Given the description of an element on the screen output the (x, y) to click on. 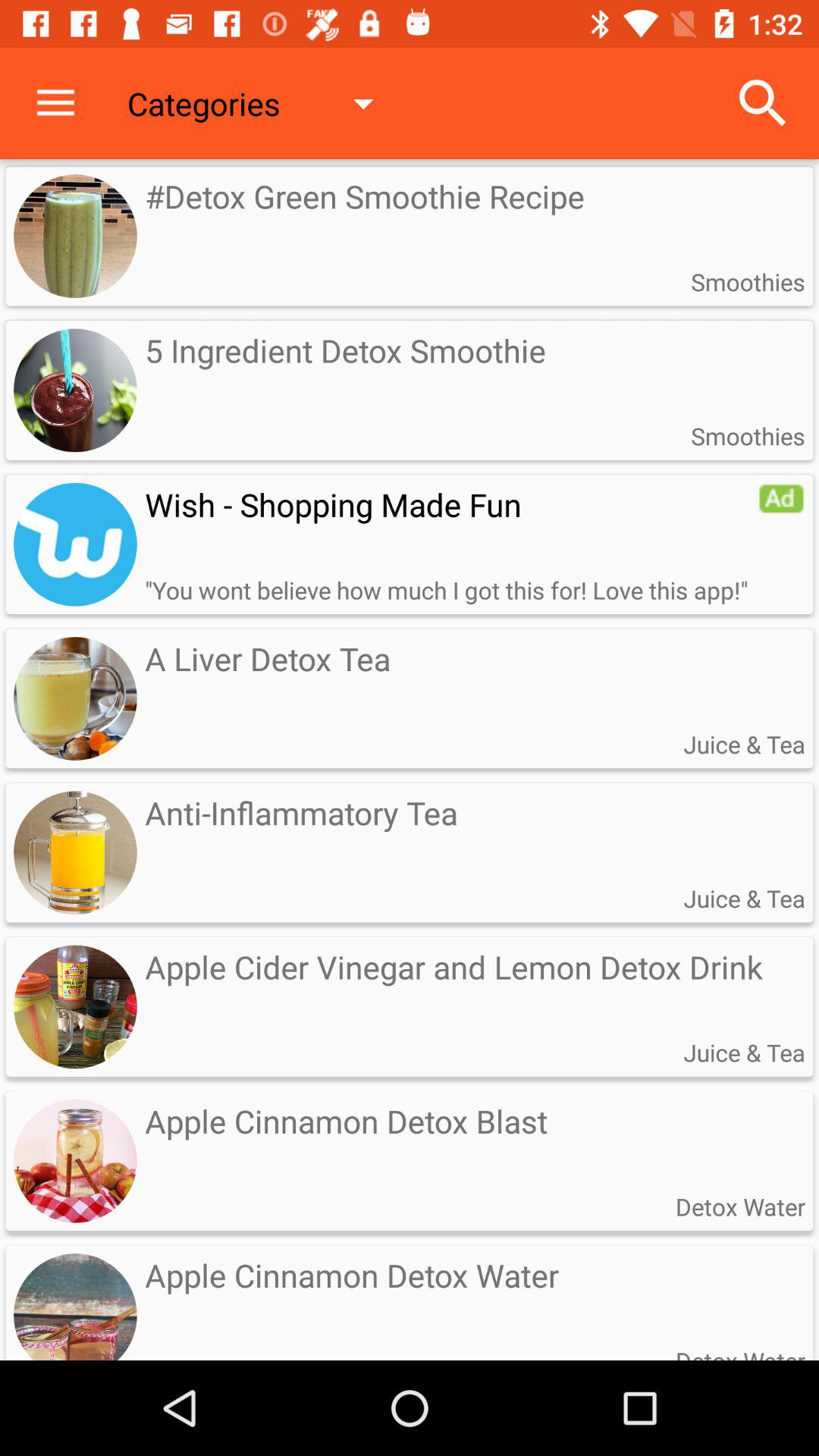
select the icon to the right of categories (763, 103)
